Given the description of an element on the screen output the (x, y) to click on. 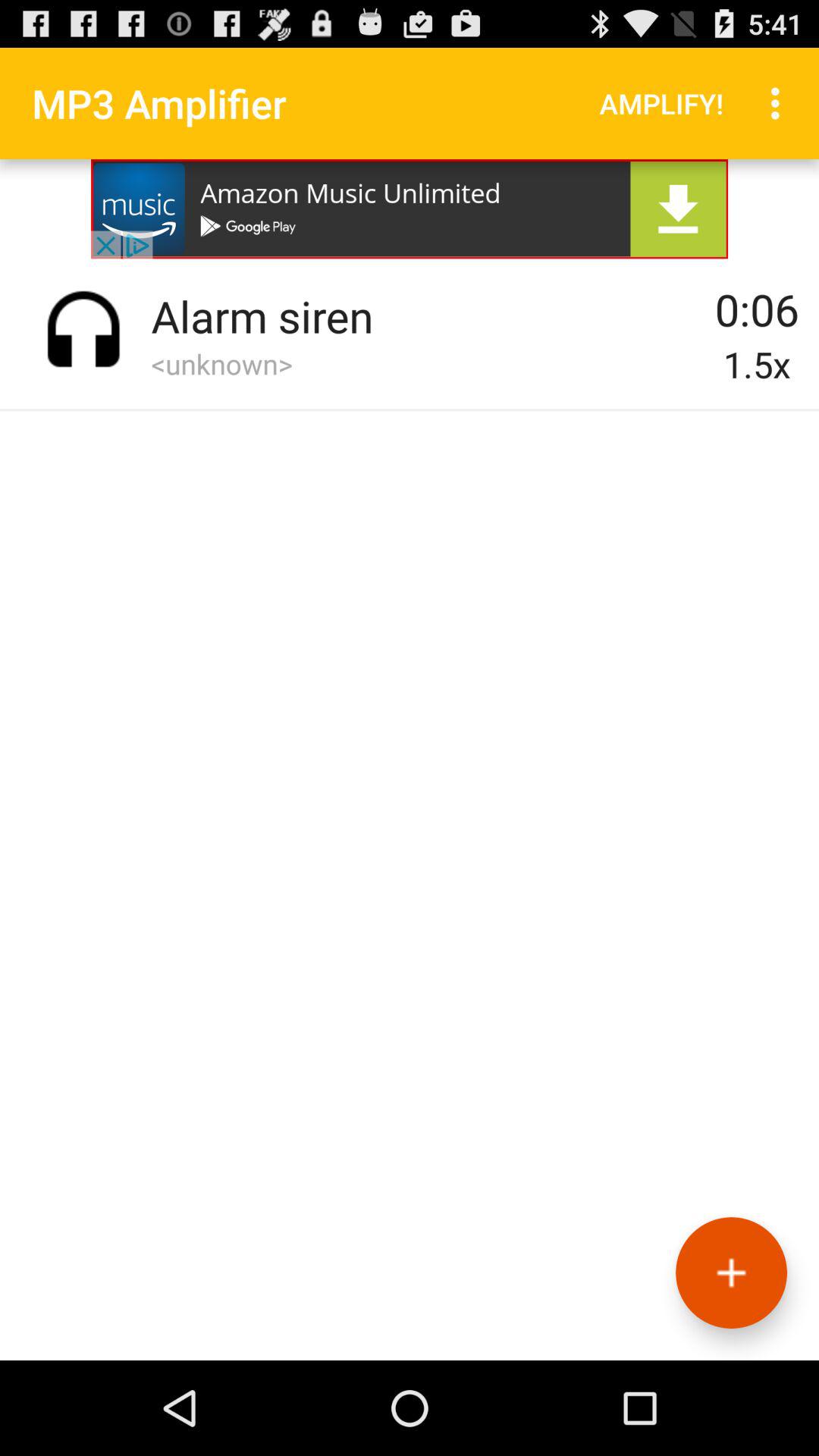
add button (731, 1272)
